Given the description of an element on the screen output the (x, y) to click on. 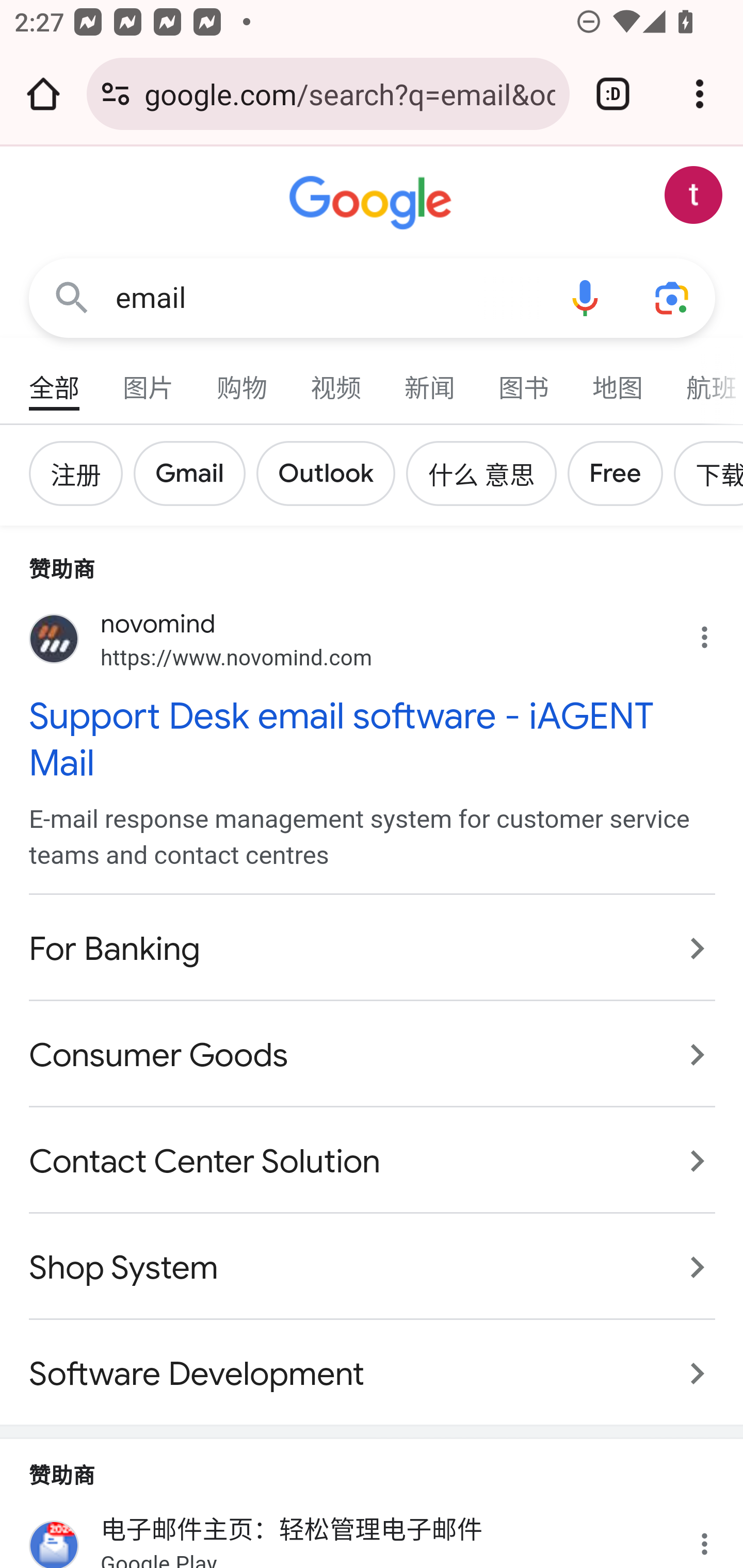
Open the home page (43, 93)
Connection is secure (115, 93)
Switch or close tabs (612, 93)
Customize and control Google Chrome (699, 93)
Google (372, 203)
Google 账号： test appium (testappium002@gmail.com) (694, 195)
Google 搜索 (71, 296)
使用拍照功能或照片进行搜索 (672, 296)
email (328, 297)
图片 (148, 378)
购物 (242, 378)
视频 (336, 378)
新闻 (430, 378)
图书 (524, 378)
地图 (618, 378)
航班 (703, 378)
添加“注册” 注册 (81, 473)
添加“Gmail” Gmail (195, 473)
添加“Outlook” Outlook (331, 473)
添加“什么 意思” 什么 意思 (486, 473)
添加“Free” Free (620, 473)
添加“下载” 下载 (707, 473)
为什么会显示该广告？ (714, 632)
Support Desk email software - iAGENT Mail (372, 738)
For Banking (372, 948)
Consumer Goods (372, 1054)
Contact Center Solution (372, 1161)
Shop System (372, 1268)
Software Development (372, 1363)
为什么会显示该广告？ (714, 1533)
